Given the description of an element on the screen output the (x, y) to click on. 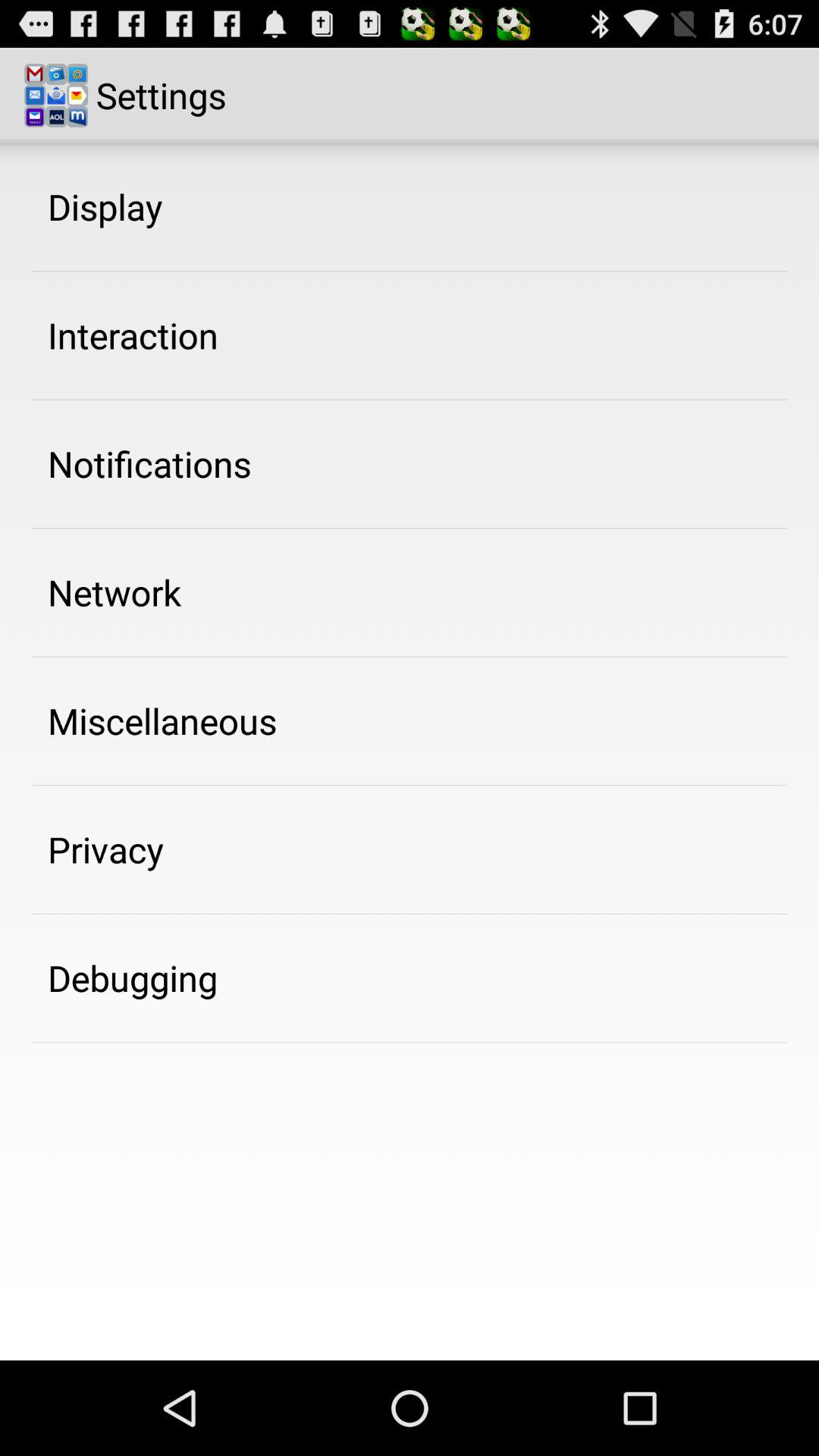
open the app below notifications app (114, 592)
